Given the description of an element on the screen output the (x, y) to click on. 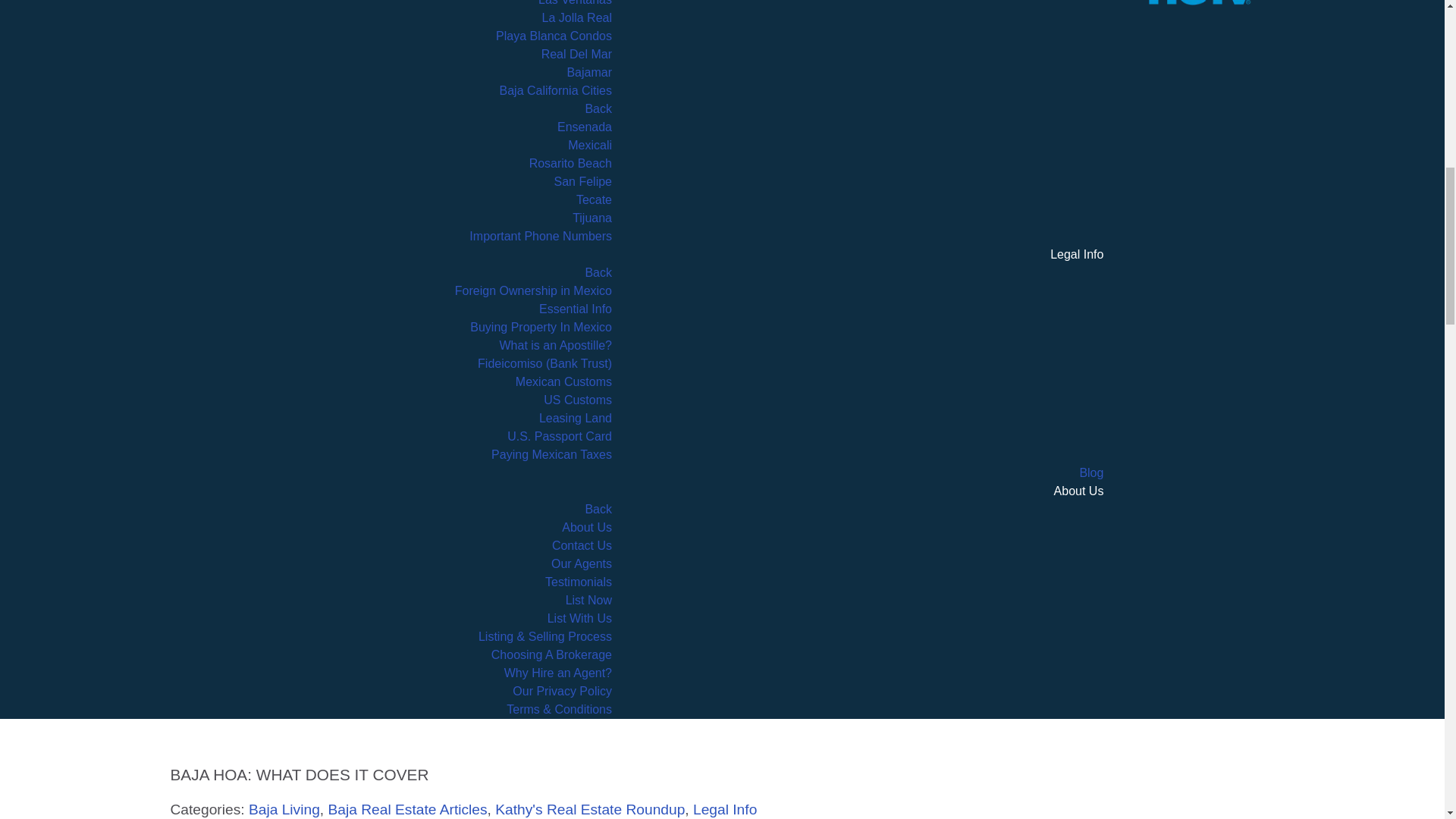
Baja Real Estate Articles (406, 809)
Baja Living (284, 809)
Kathy's Real Estate Roundup (589, 809)
Legal Info (725, 809)
